Given the description of an element on the screen output the (x, y) to click on. 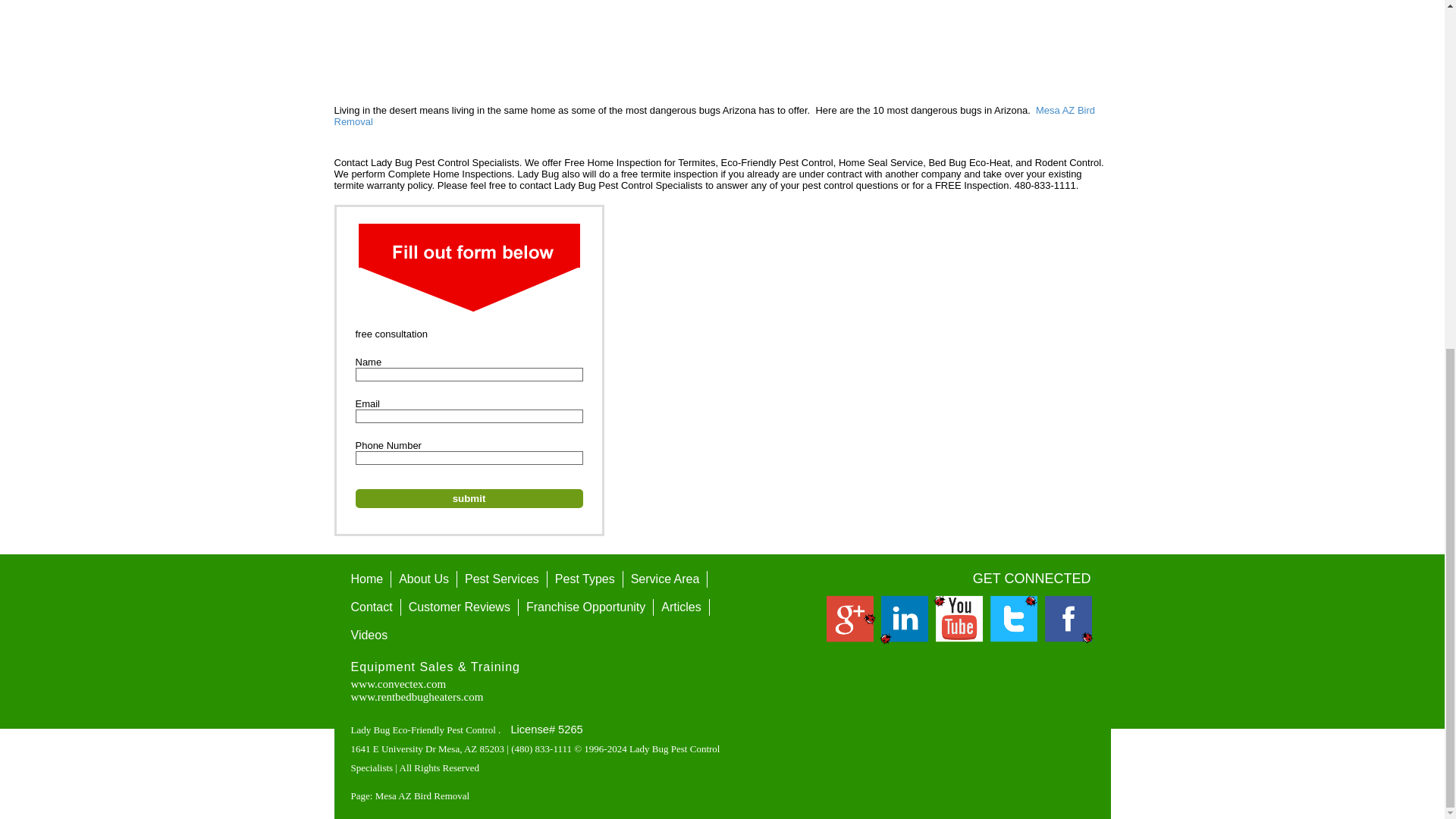
Articles (680, 606)
www.convectex.com (397, 684)
Videos (368, 635)
Customer Reviews (459, 606)
  Mesa AZ Bird Removal (713, 115)
Pest Types (585, 579)
Service Area (665, 579)
Contact (370, 606)
submit (468, 497)
Home (366, 579)
Pest Services (502, 579)
www.rentbedbugheaters.com (416, 696)
Franchise Opportunity (585, 606)
About Us (424, 579)
submit (468, 497)
